Given the description of an element on the screen output the (x, y) to click on. 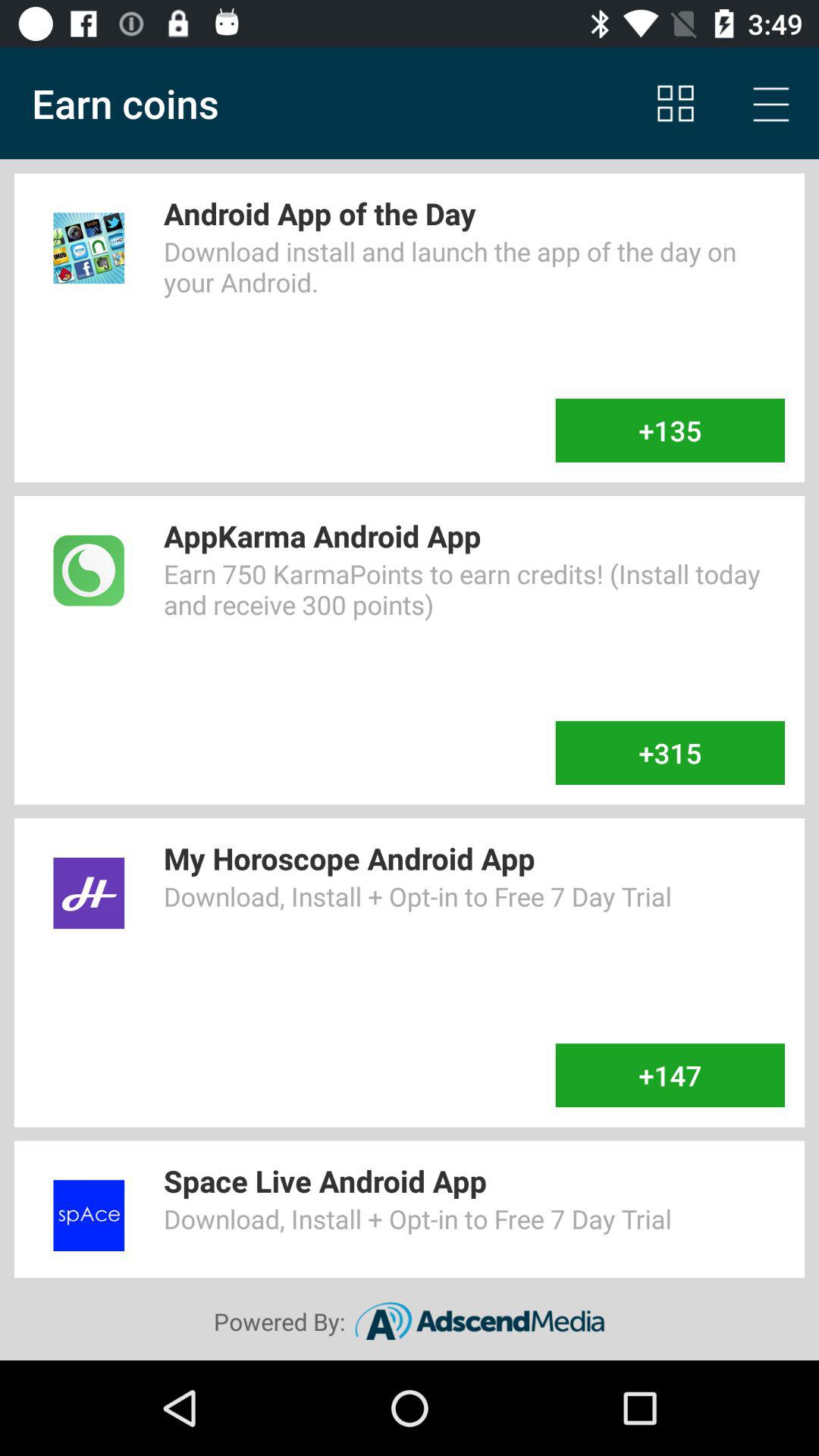
open the +315 item (669, 752)
